Given the description of an element on the screen output the (x, y) to click on. 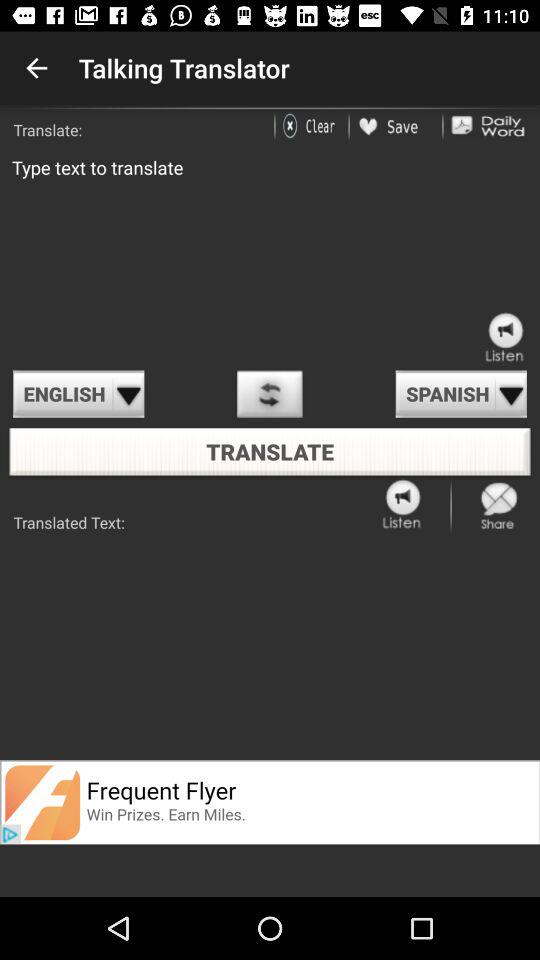
go to all (505, 338)
